Given the description of an element on the screen output the (x, y) to click on. 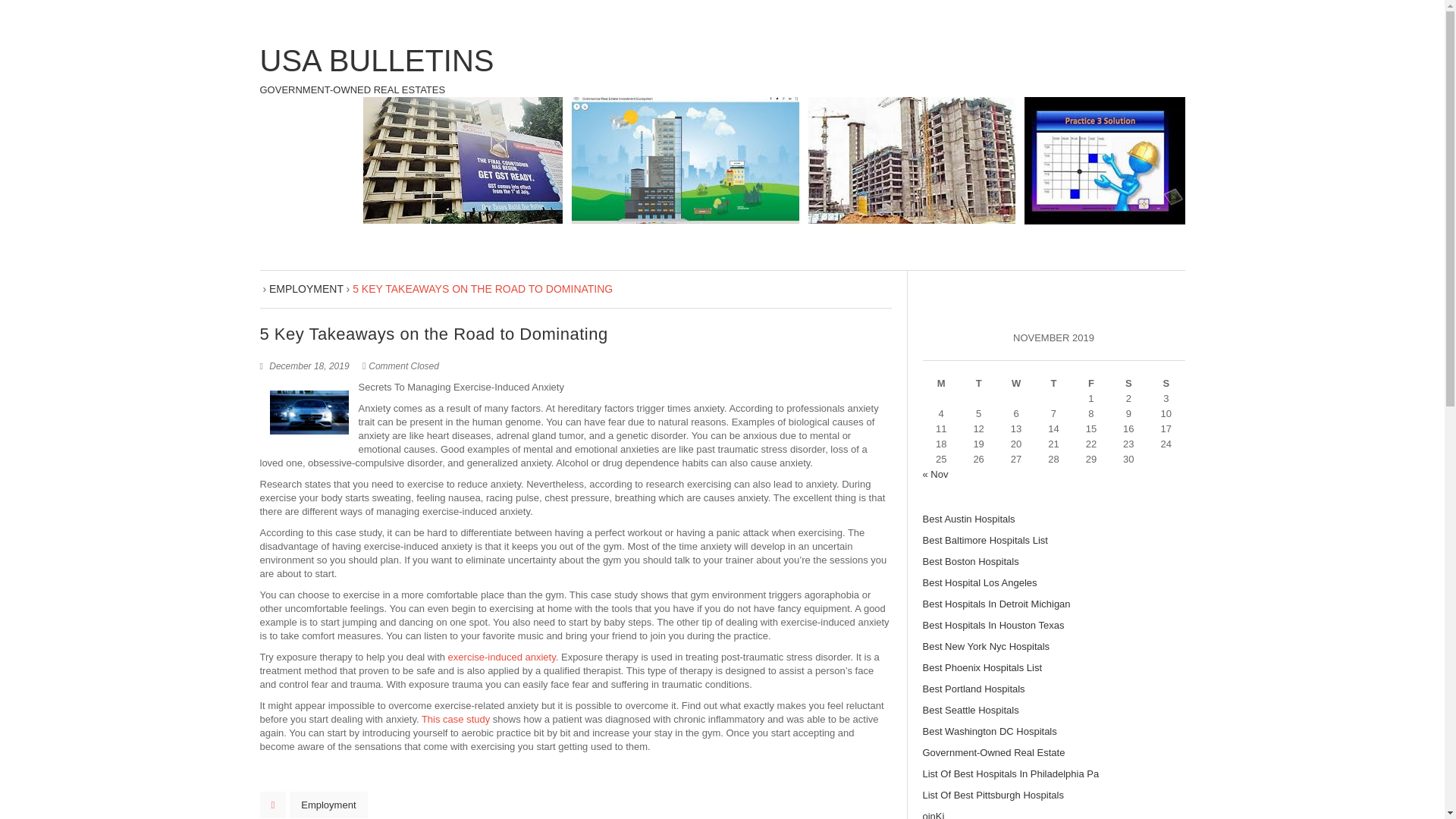
Best Baltimore Hospitals List (983, 540)
Thursday (1053, 383)
This case study (455, 718)
Monday (940, 383)
Best New York Nyc Hospitals (985, 645)
Best Phoenix Hospitals List (981, 667)
Best Hospitals In Detroit Michigan (995, 603)
Best Portland Hospitals (973, 688)
exercise-induced anxiety (502, 656)
5 KEY TAKEAWAYS ON THE ROAD TO DOMINATING (482, 288)
Wednesday (1015, 383)
Tuesday (978, 383)
USA Bulletins (376, 71)
Best Hospitals In Houston Texas (992, 624)
Government-Owned Real Estate (992, 752)
